Given the description of an element on the screen output the (x, y) to click on. 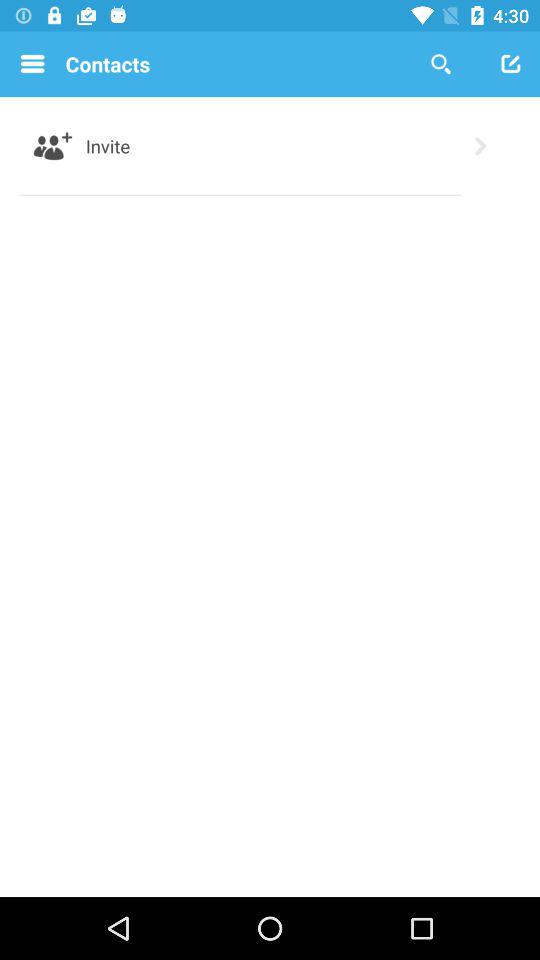
open item next to invite icon (52, 146)
